Given the description of an element on the screen output the (x, y) to click on. 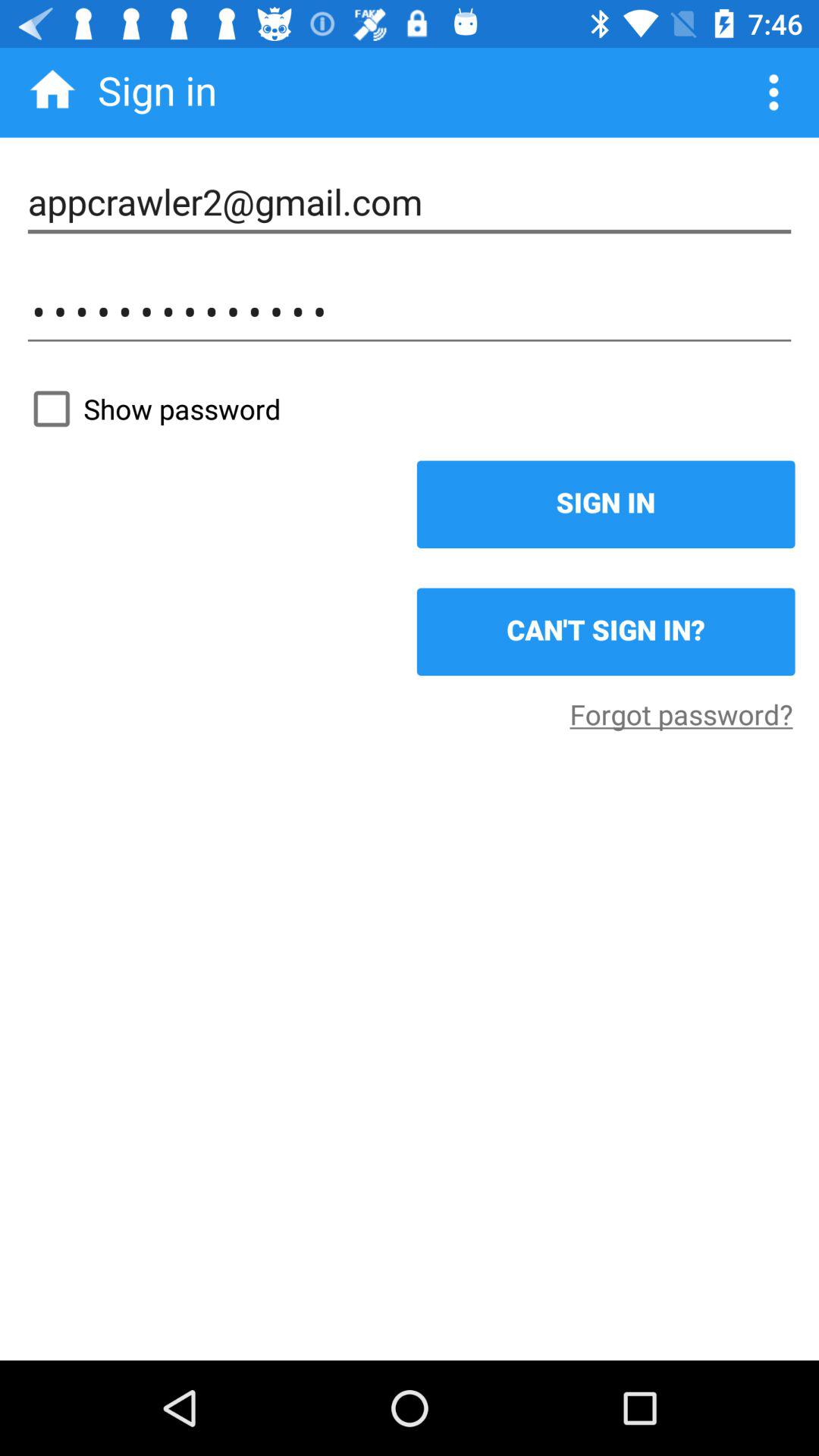
click the icon below appcrawler3116 item (409, 408)
